Given the description of an element on the screen output the (x, y) to click on. 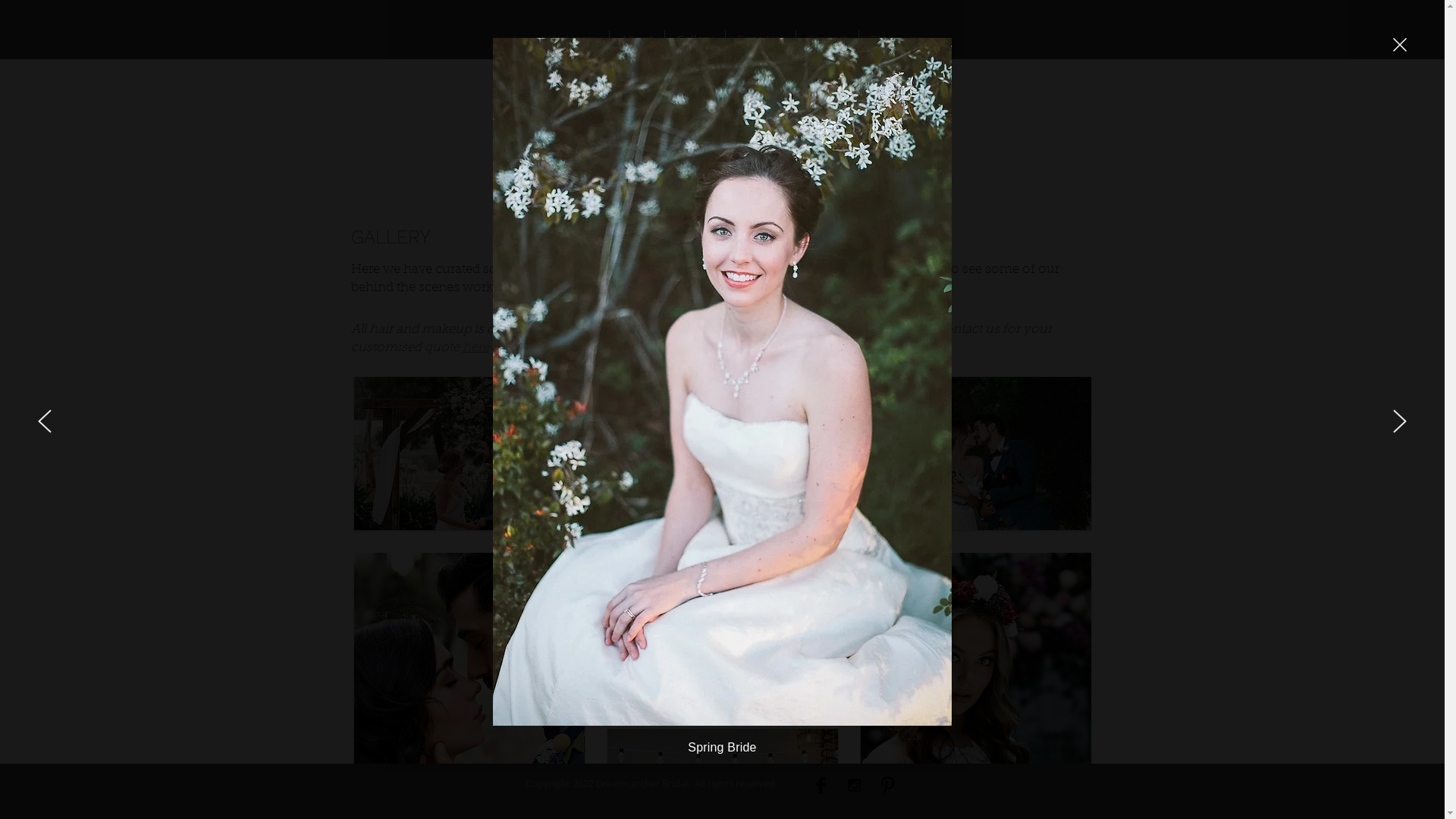
About Element type: text (636, 38)
Welcome Element type: text (572, 38)
here Element type: text (475, 347)
Gallery Element type: text (694, 38)
Contact Element type: text (827, 38)
Price List Element type: text (760, 38)
Blog Element type: text (882, 38)
here. Element type: text (689, 286)
